Given the description of an element on the screen output the (x, y) to click on. 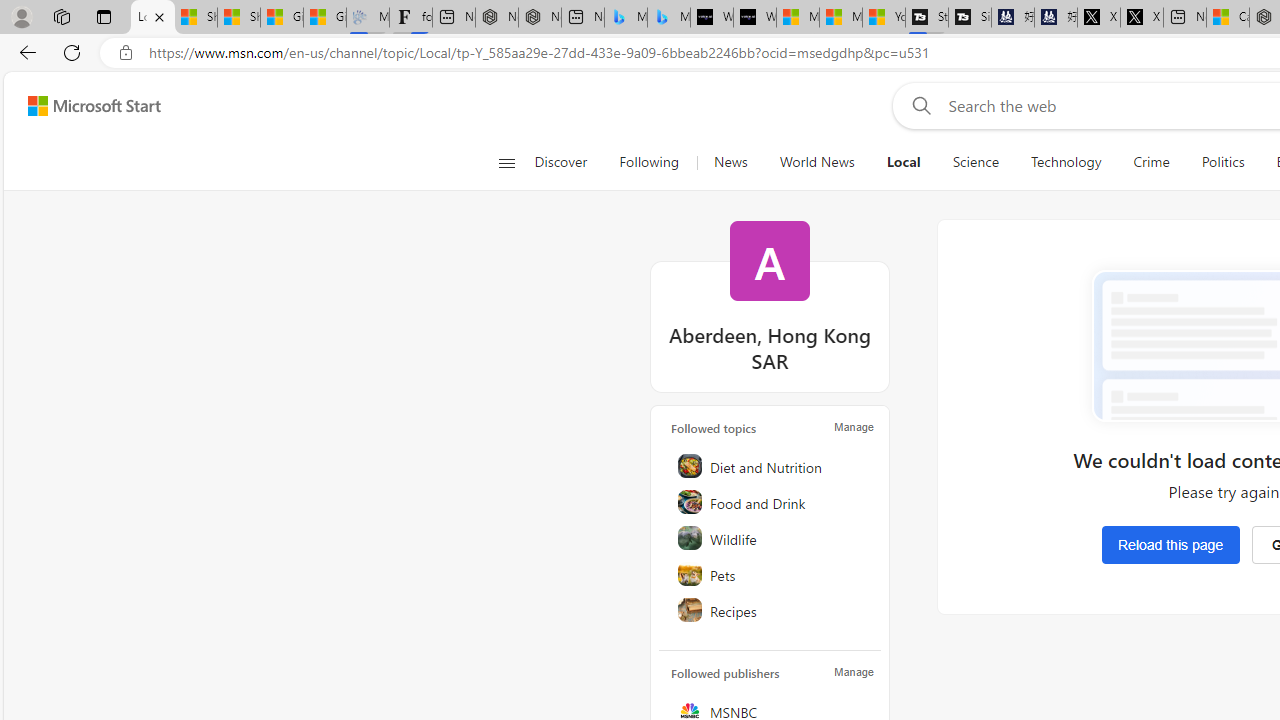
Technology (1065, 162)
Local (903, 162)
World News (816, 162)
Skip to content (86, 105)
Microsoft Bing Travel - Stays in Bangkok, Bangkok, Thailand (625, 17)
Skip to footer (82, 105)
Gilma and Hector both pose tropical trouble for Hawaii (324, 17)
